Given the description of an element on the screen output the (x, y) to click on. 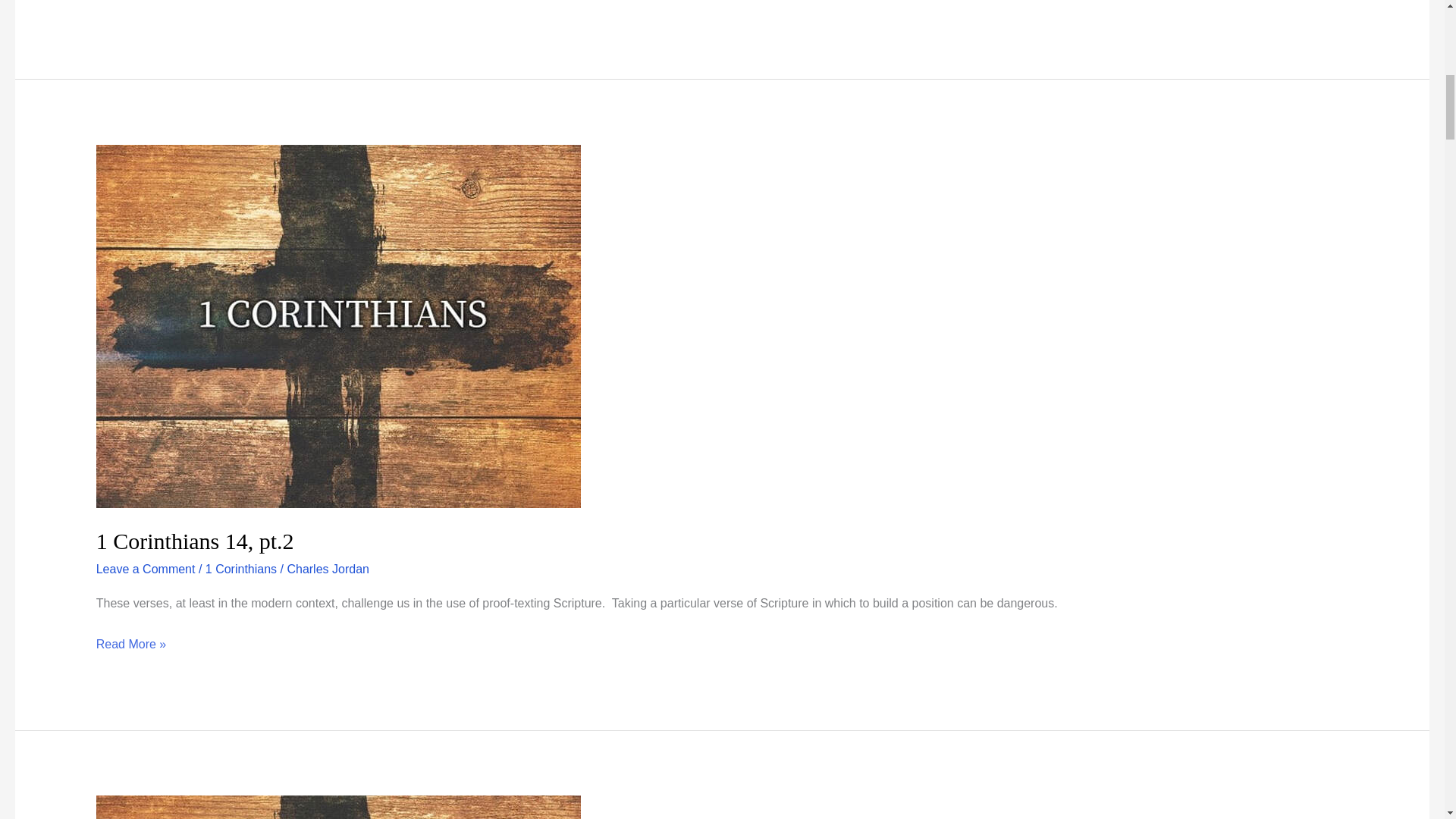
View all posts by Charles Jordan (327, 568)
